Given the description of an element on the screen output the (x, y) to click on. 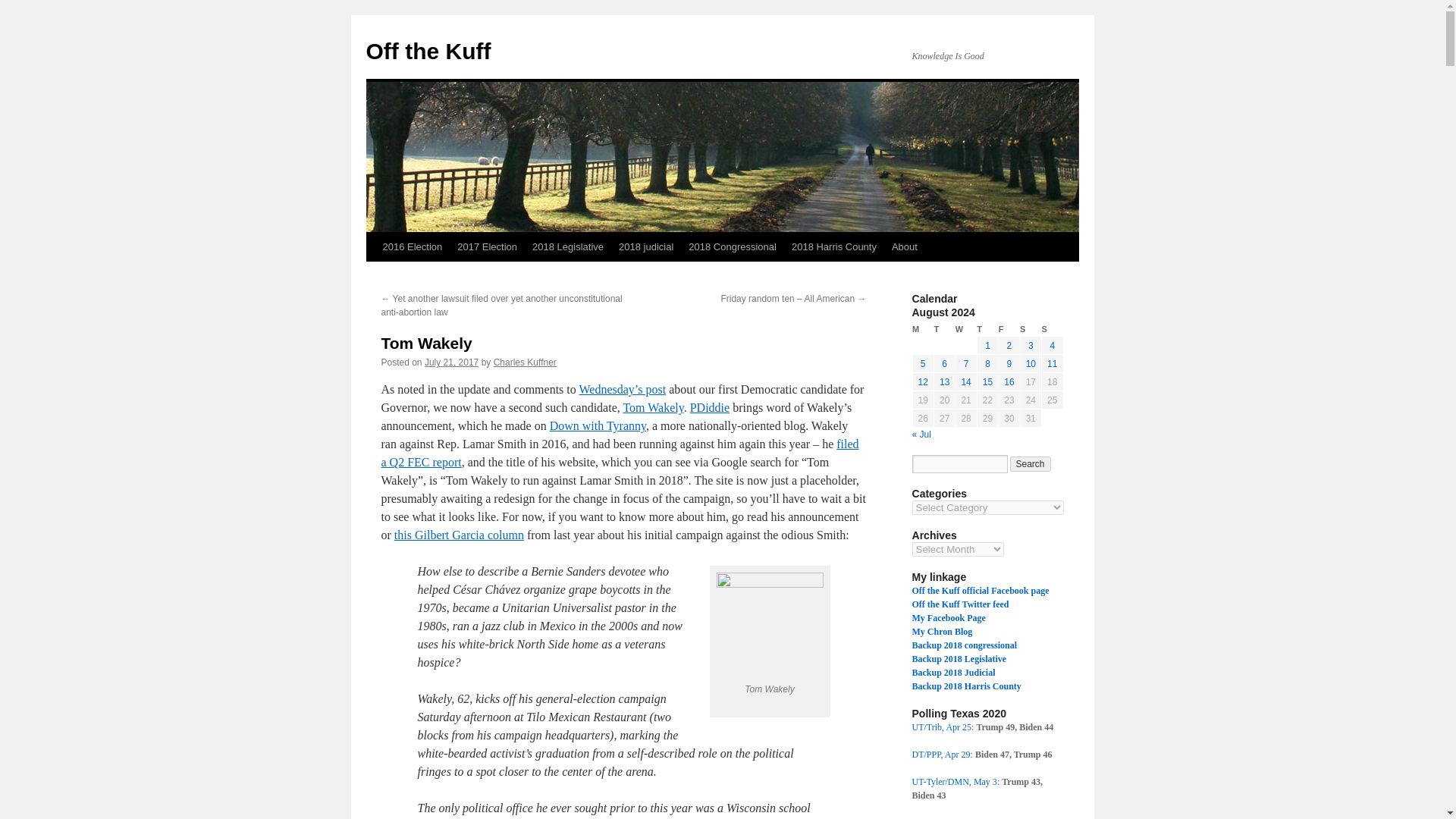
Friday (1009, 329)
Charles Kuffner (524, 362)
View all posts by Charles Kuffner (524, 362)
2018 Congressional (732, 246)
2017 Election (486, 246)
Tom Wakely (652, 407)
Wednesday (965, 329)
Tuesday (944, 329)
5:09 am (452, 362)
Sunday (1052, 329)
